Given the description of an element on the screen output the (x, y) to click on. 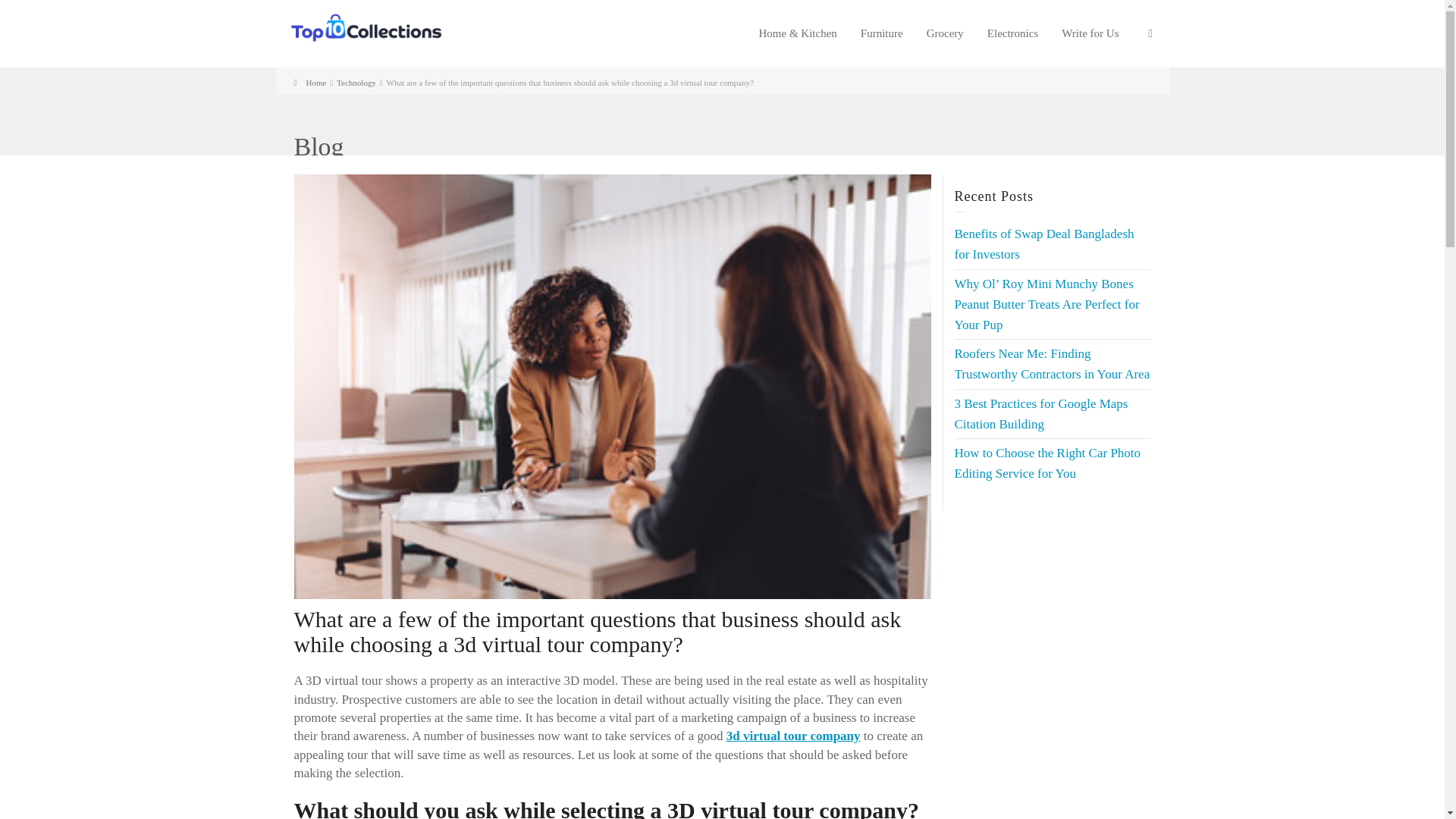
Furniture (881, 33)
Electronics (1012, 33)
Technology (355, 81)
Top10Collections (365, 26)
3 Best Practices for Google Maps Citation Building (1039, 413)
Write for Us (1090, 33)
Home (310, 81)
Grocery (945, 33)
3d virtual tour company (793, 735)
